Given the description of an element on the screen output the (x, y) to click on. 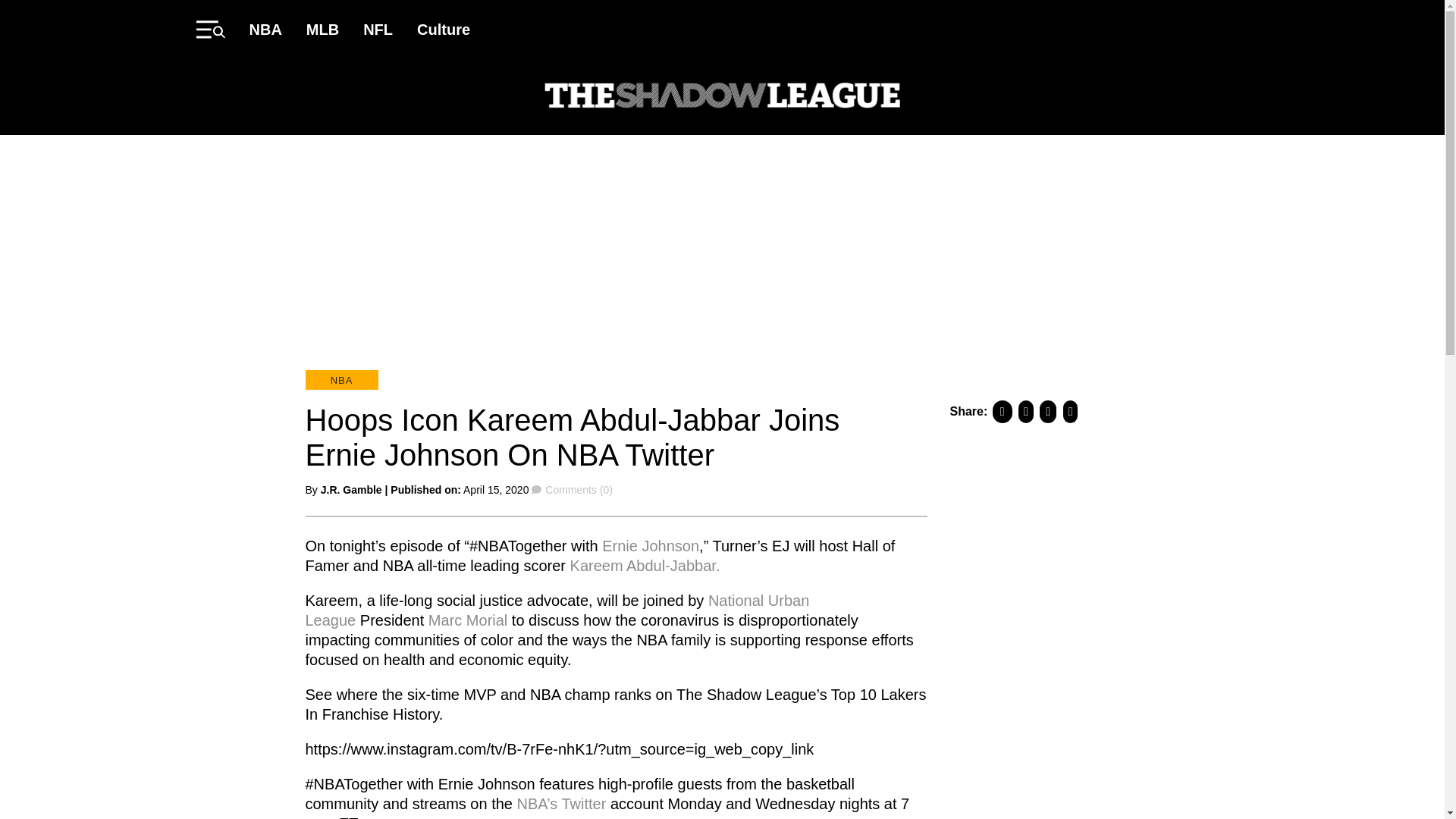
National Urban League (556, 609)
The Shadow League (721, 96)
Marc Morial (467, 619)
NBA (264, 29)
Kareem Abdul-Jabbar. (645, 564)
Ernie Johnson (650, 545)
MLB (322, 29)
NFL (377, 29)
Culture (443, 29)
J.R. Gamble (350, 490)
